Given the description of an element on the screen output the (x, y) to click on. 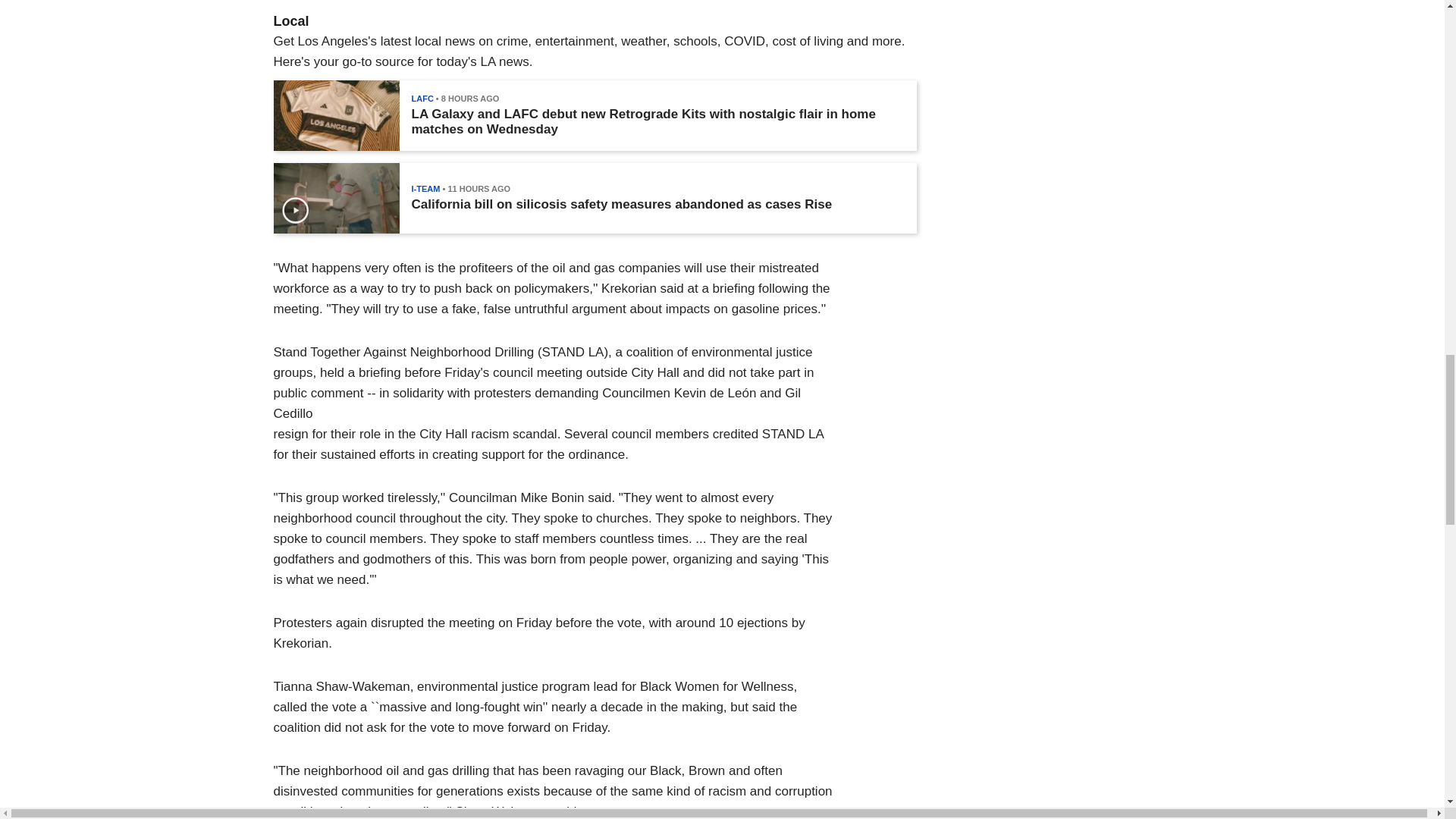
I-TEAM (424, 188)
LAFC (421, 98)
